Given the description of an element on the screen output the (x, y) to click on. 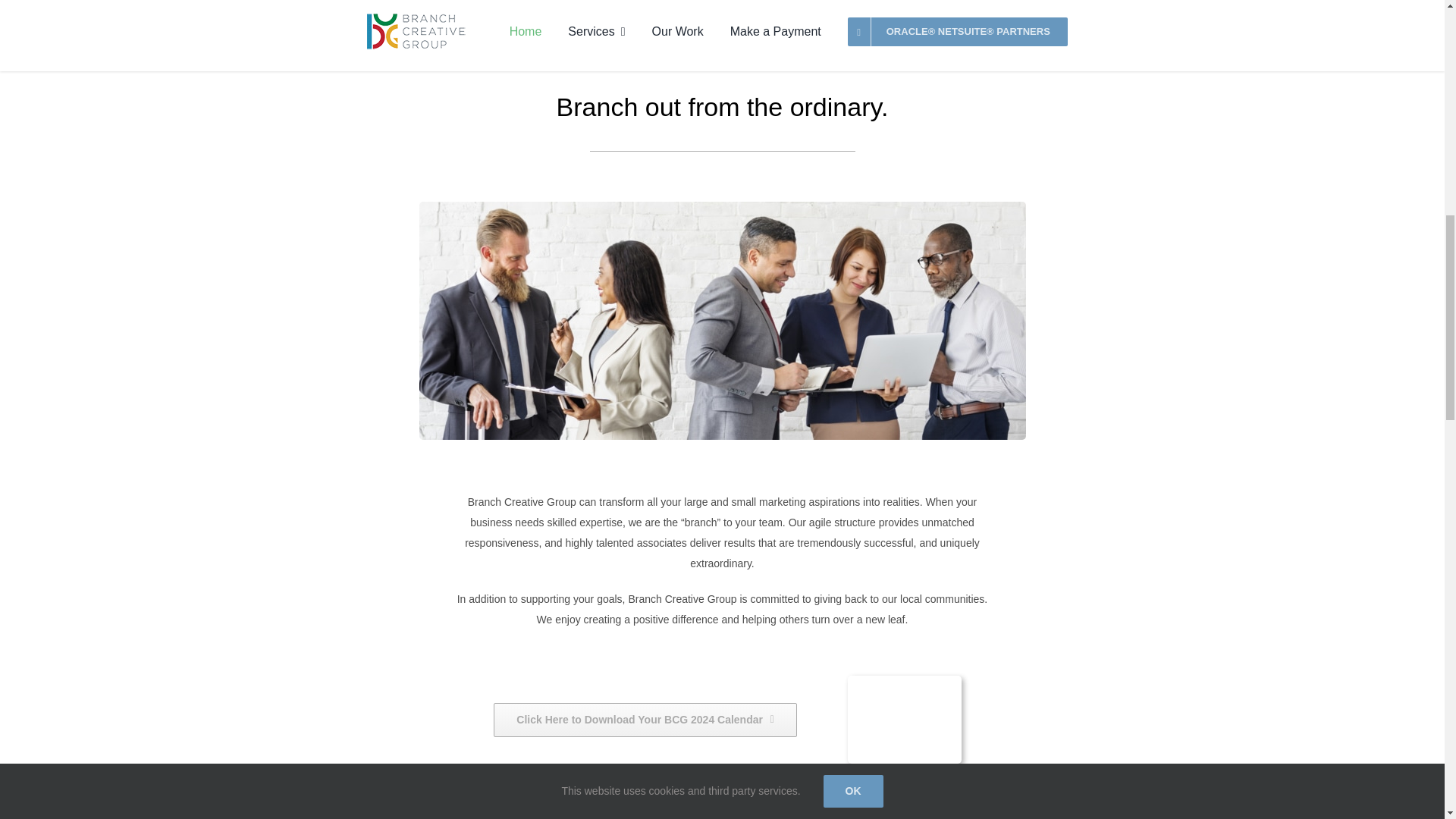
Click Here to Download Your BCG 2024 Calendar (644, 719)
